Given the description of an element on the screen output the (x, y) to click on. 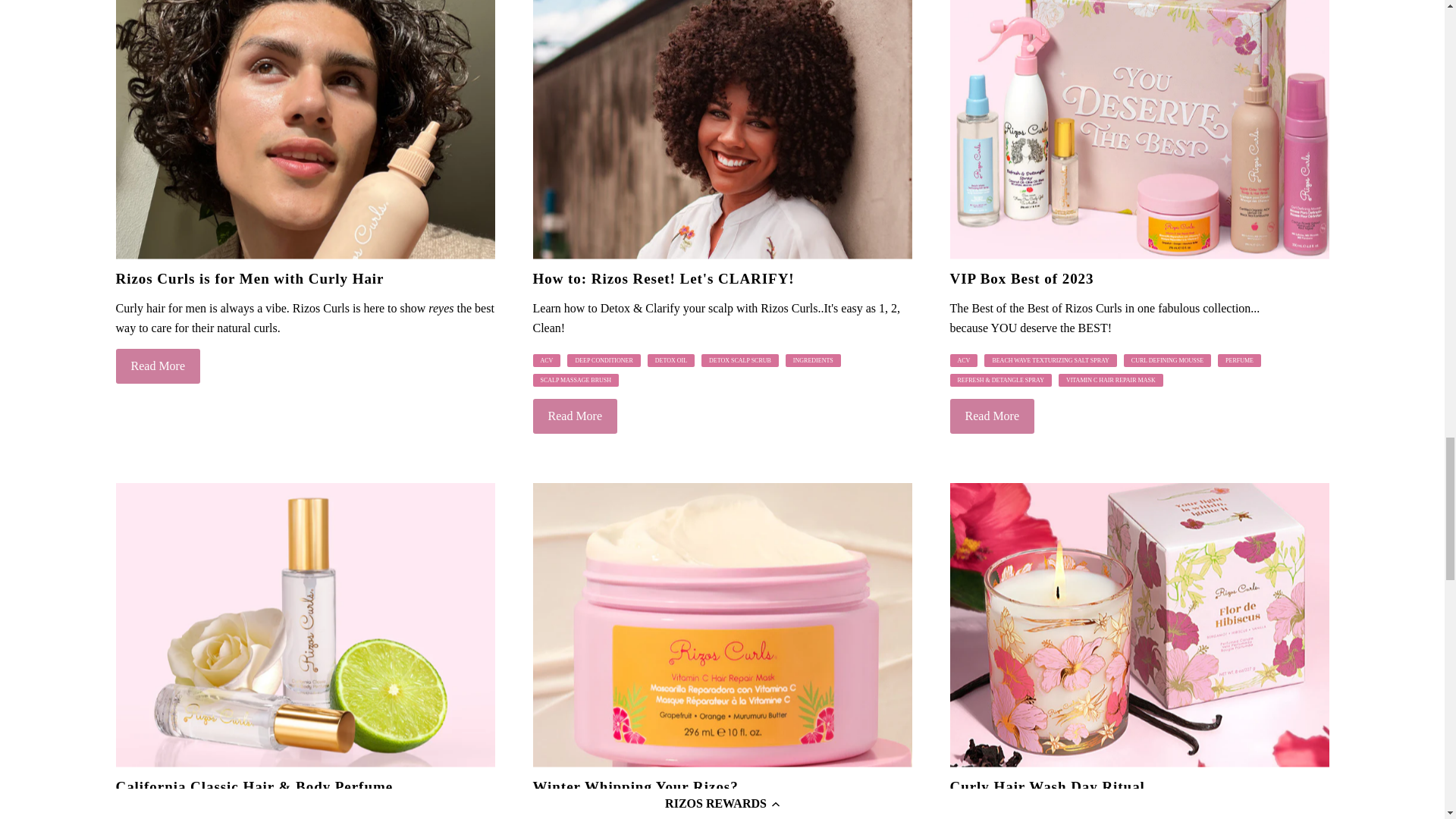
Winter Whipping Your Rizos? (721, 625)
VIP Box Best of 2023 (1138, 129)
Rizos Curls is for Men with Curly Hair (305, 129)
Curly Hair Wash Day Ritual (1138, 625)
How to: Rizos Reset! Let's CLARIFY! (721, 129)
